Given the description of an element on the screen output the (x, y) to click on. 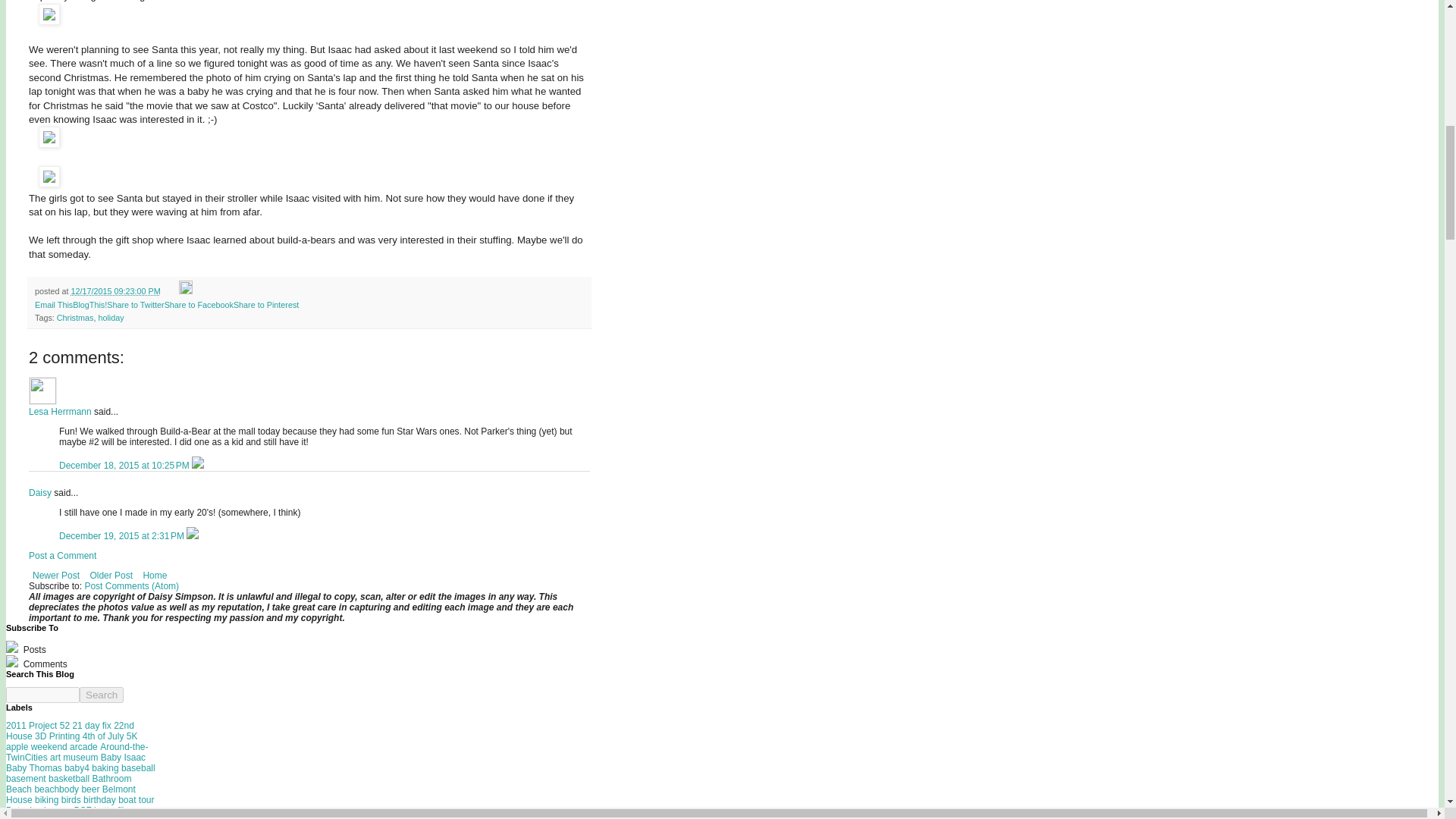
Email This (53, 304)
Email This (53, 304)
Delete Comment (192, 535)
BlogThis! (89, 304)
Older Post (110, 575)
holiday (110, 317)
Share to Pinterest (265, 304)
Lesa Herrmann (60, 411)
Edit Post (185, 290)
Christmas (75, 317)
comment permalink (125, 465)
Share to Facebook (198, 304)
comment permalink (122, 535)
Email Post (171, 290)
